Given the description of an element on the screen output the (x, y) to click on. 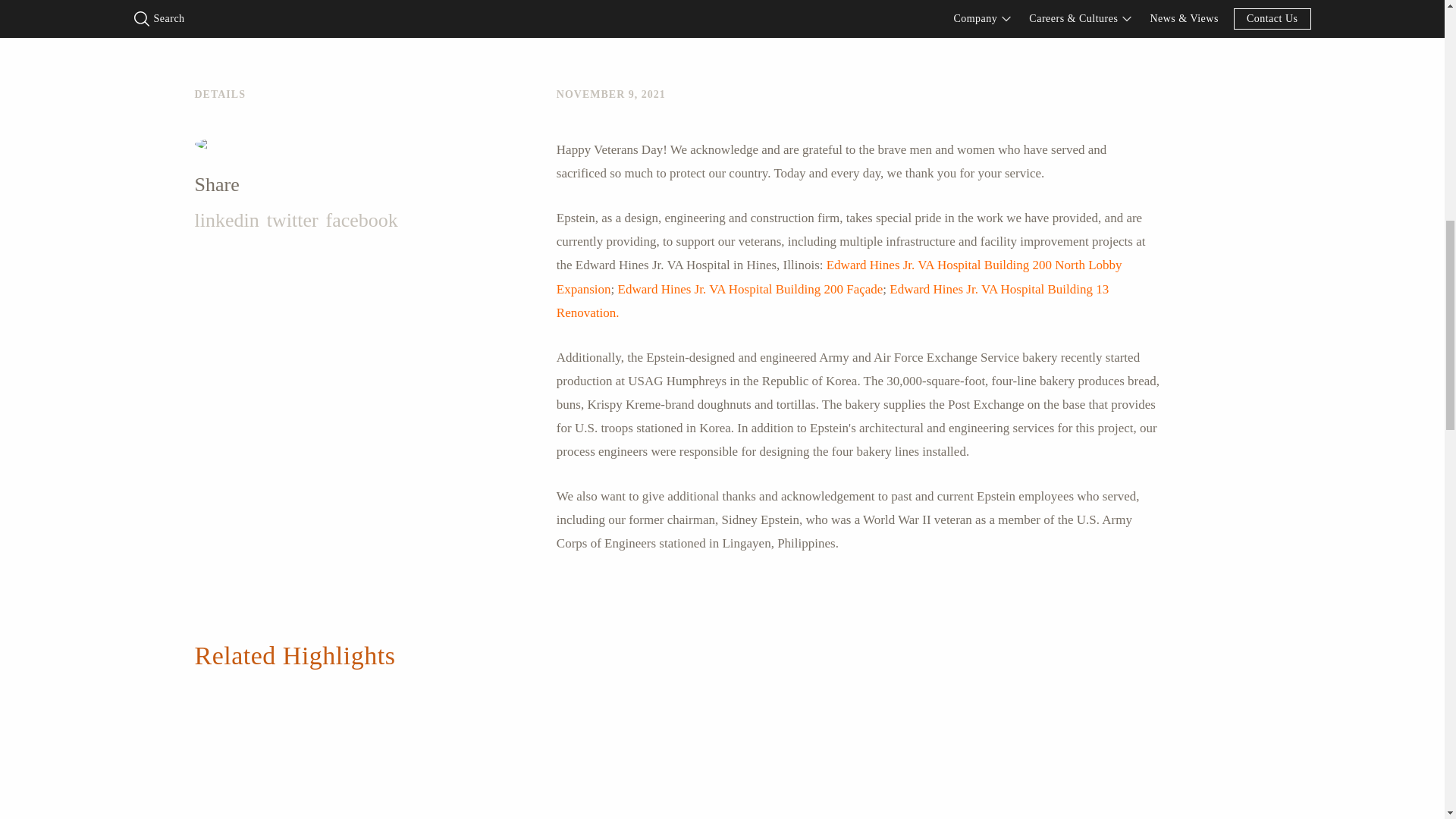
twitter (292, 220)
linkedin (226, 220)
